Given the description of an element on the screen output the (x, y) to click on. 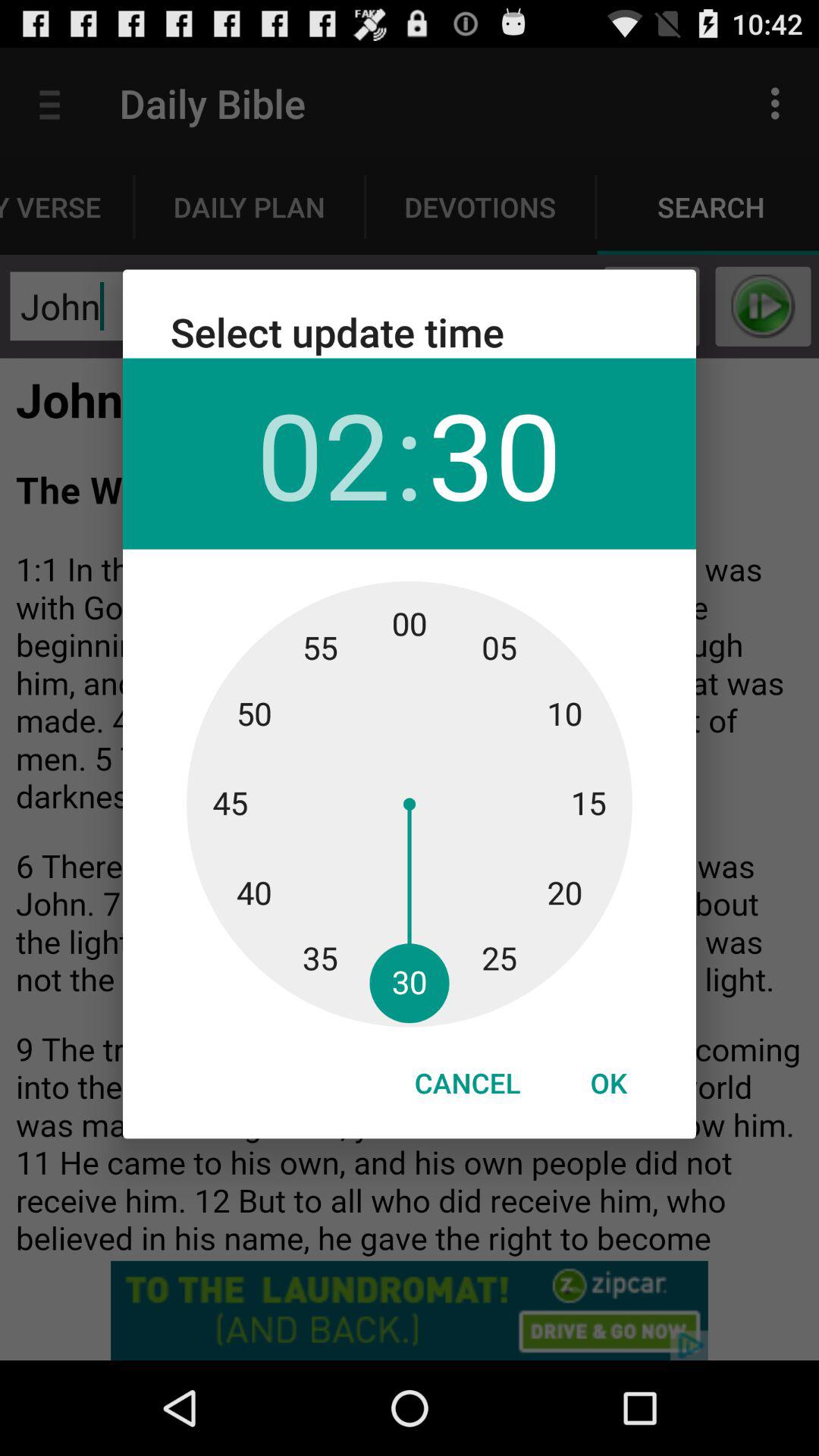
turn on icon to the right of cancel item (608, 1082)
